Given the description of an element on the screen output the (x, y) to click on. 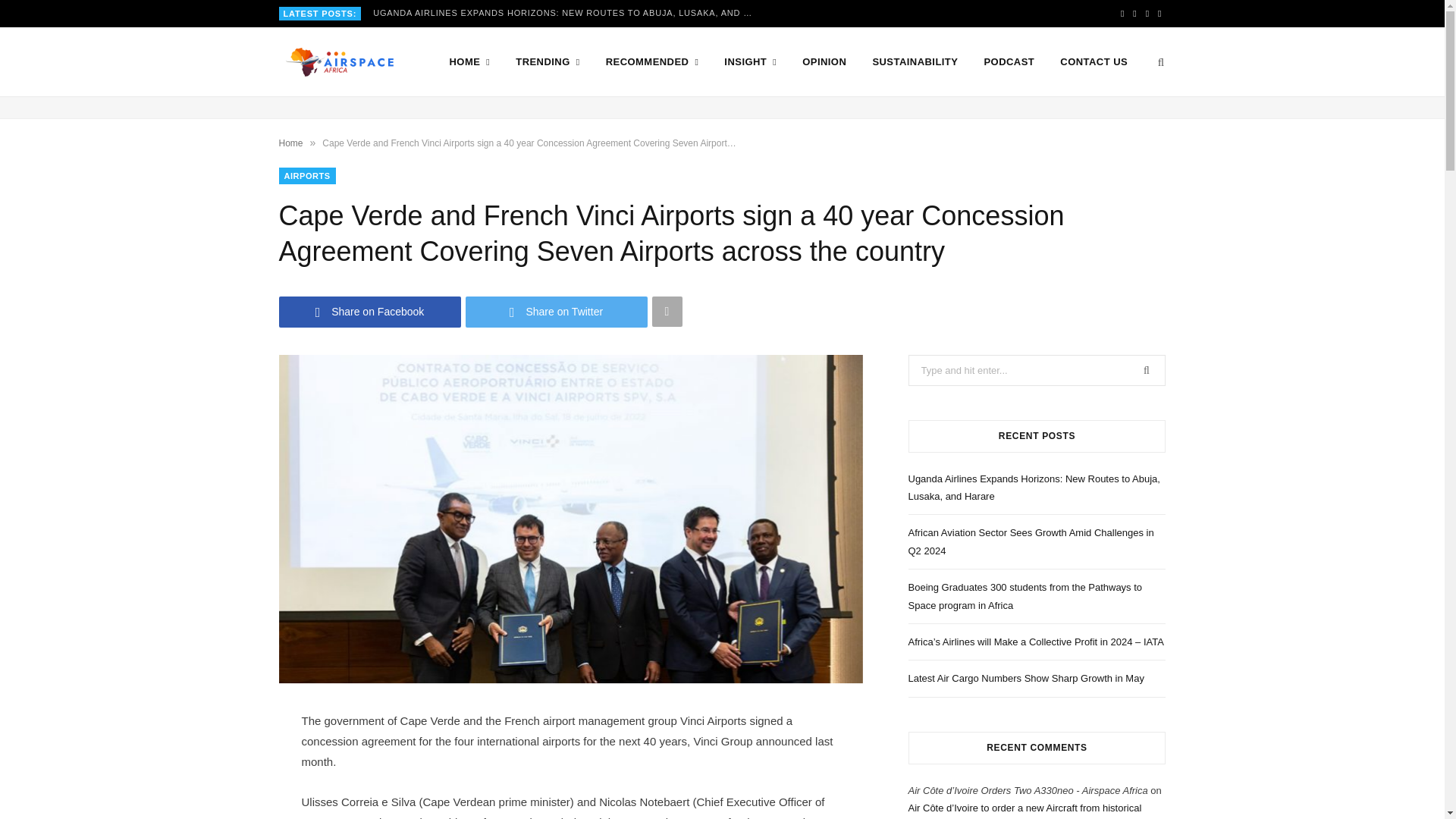
Airspace Africa (339, 61)
HOME (470, 61)
TRENDING (547, 61)
